Given the description of an element on the screen output the (x, y) to click on. 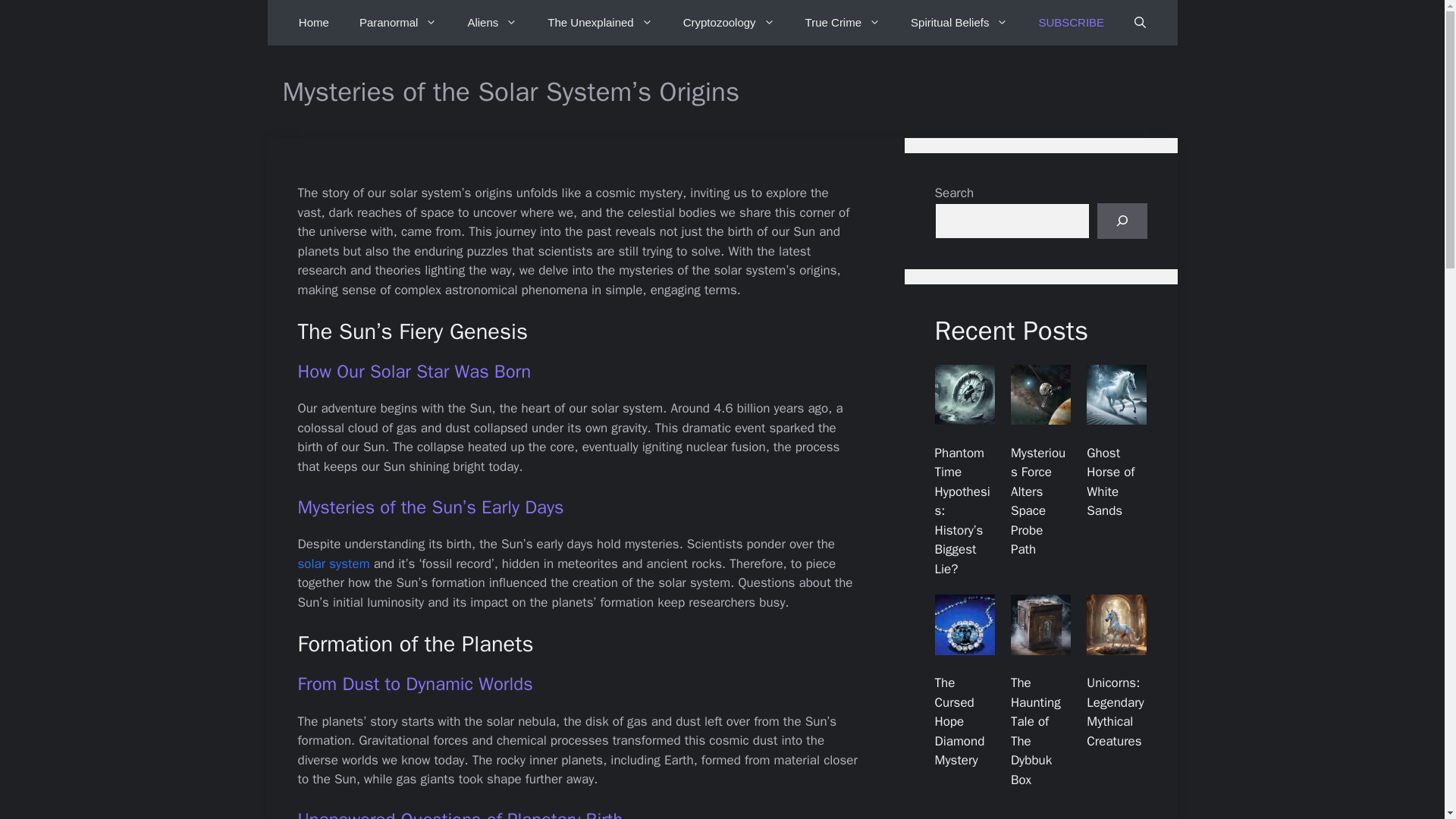
SUBSCRIBE (1071, 22)
Cryptozoology (729, 22)
The Unexplained (599, 22)
True Crime (842, 22)
Paranormal (397, 22)
Aliens (491, 22)
Spiritual Beliefs (959, 22)
Home (313, 22)
